Given the description of an element on the screen output the (x, y) to click on. 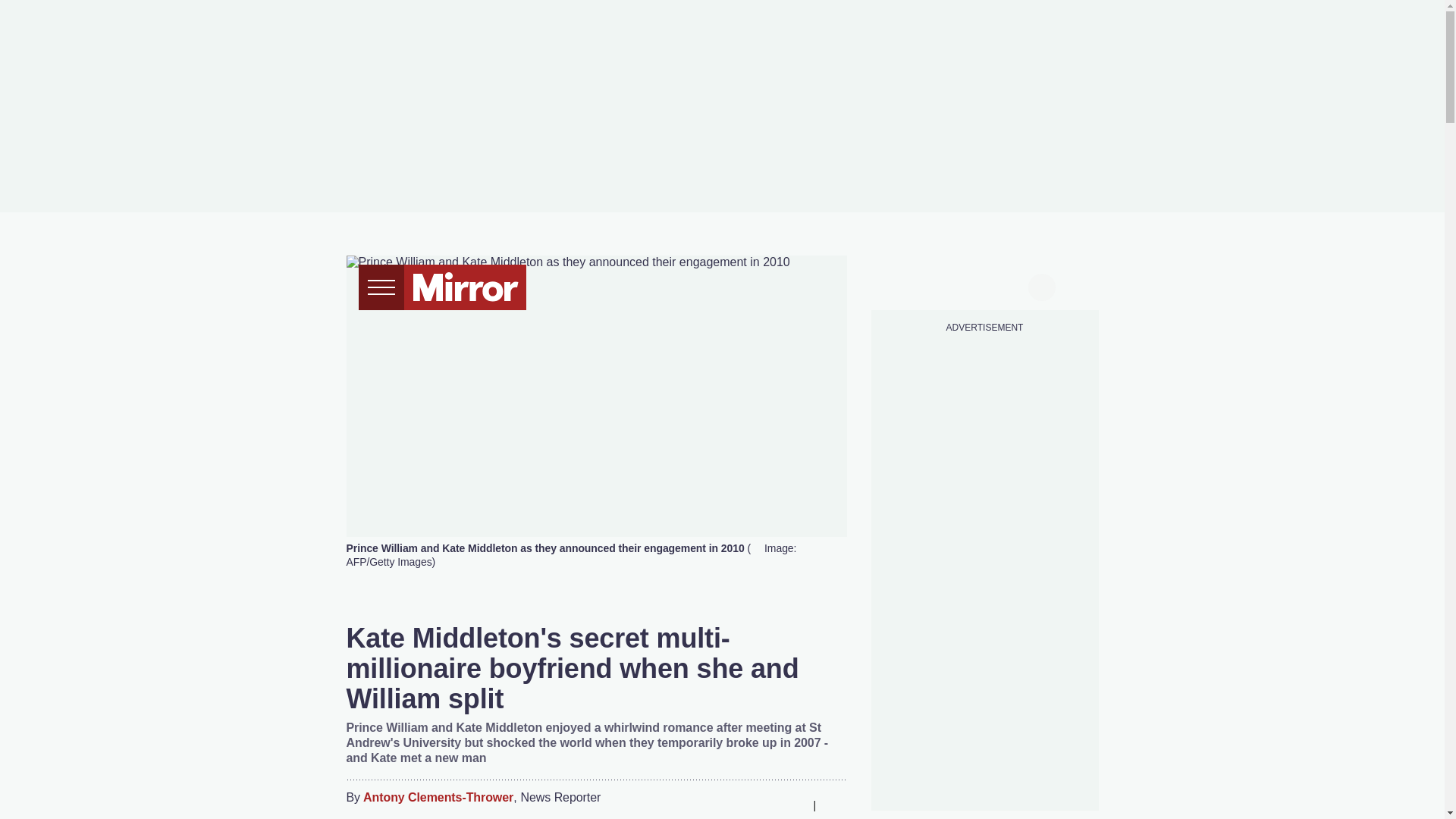
instagram (984, 285)
facebook (897, 285)
Antony Clements-Thrower (437, 797)
Whatsapp (763, 804)
Facebook (702, 804)
tiktok (955, 285)
Twitter (733, 804)
snapchat (1012, 285)
Comments (834, 804)
twitter (926, 285)
